Given the description of an element on the screen output the (x, y) to click on. 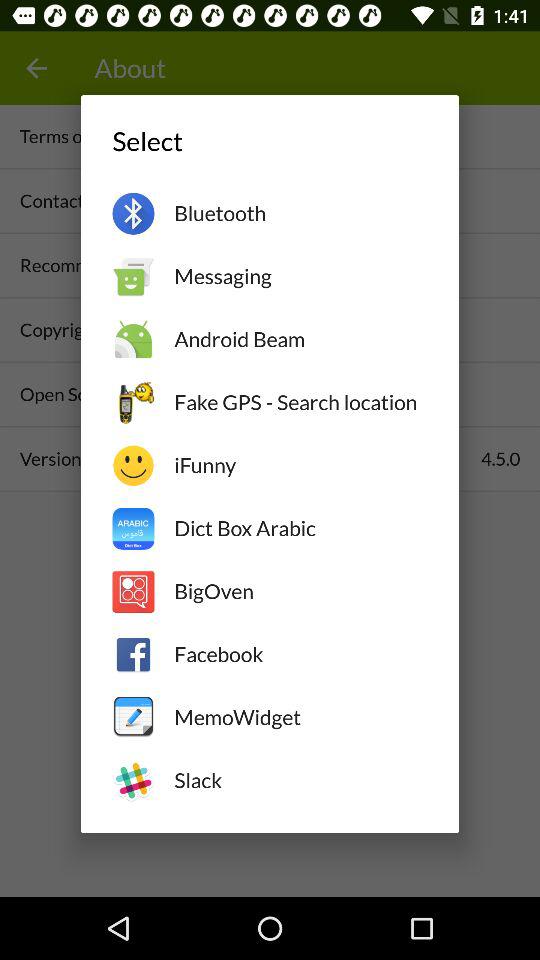
turn off icon above the slack (300, 717)
